Given the description of an element on the screen output the (x, y) to click on. 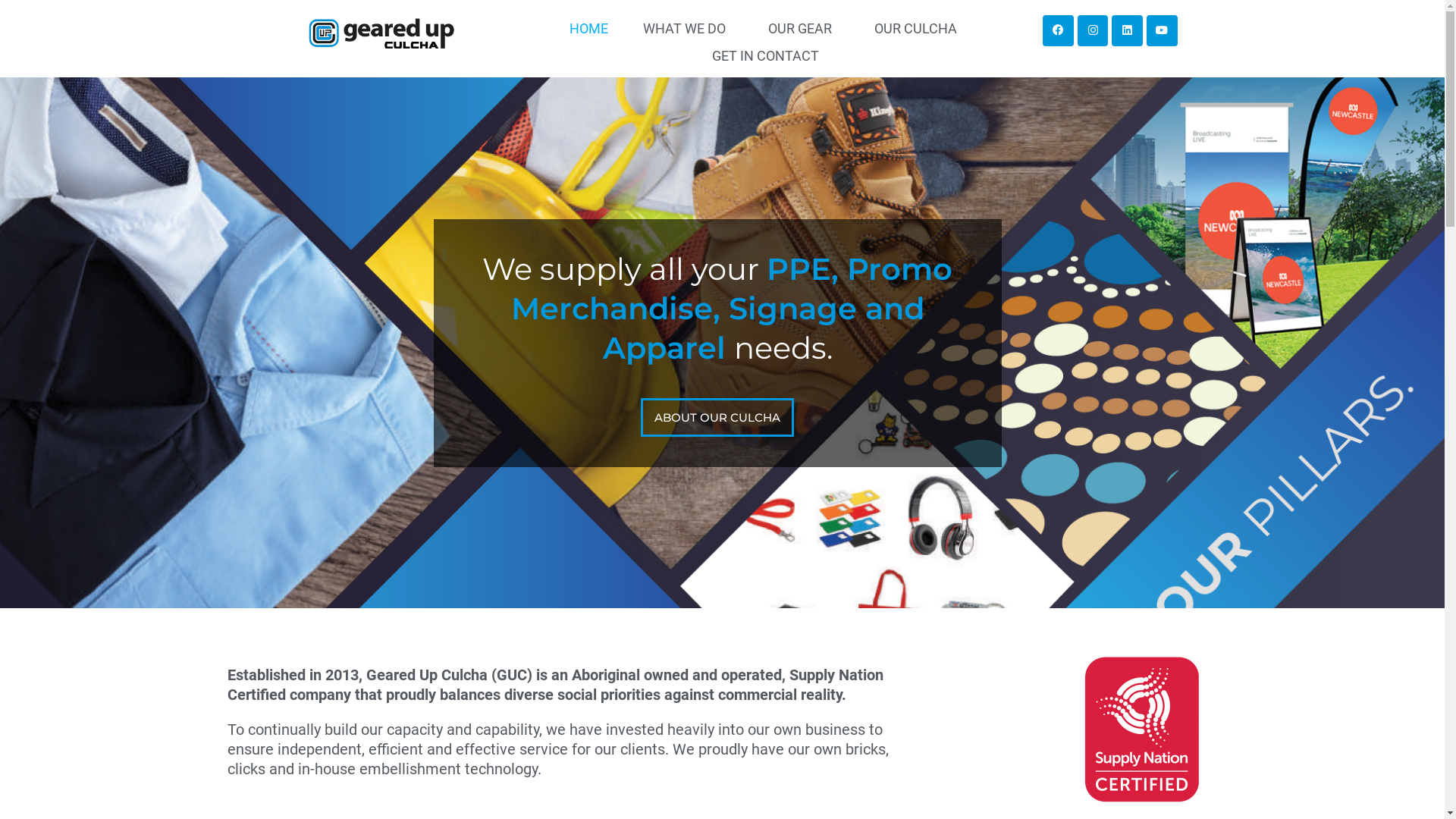
WHAT WE DO Element type: text (687, 28)
GET IN CONTACT Element type: text (768, 55)
ABOUT OUR CULCHA Element type: text (716, 416)
HOME Element type: text (587, 28)
OUR CULCHA Element type: text (918, 28)
OUR GEAR Element type: text (802, 28)
SN_Certified_ART_small Element type: hover (1141, 729)
